Given the description of an element on the screen output the (x, y) to click on. 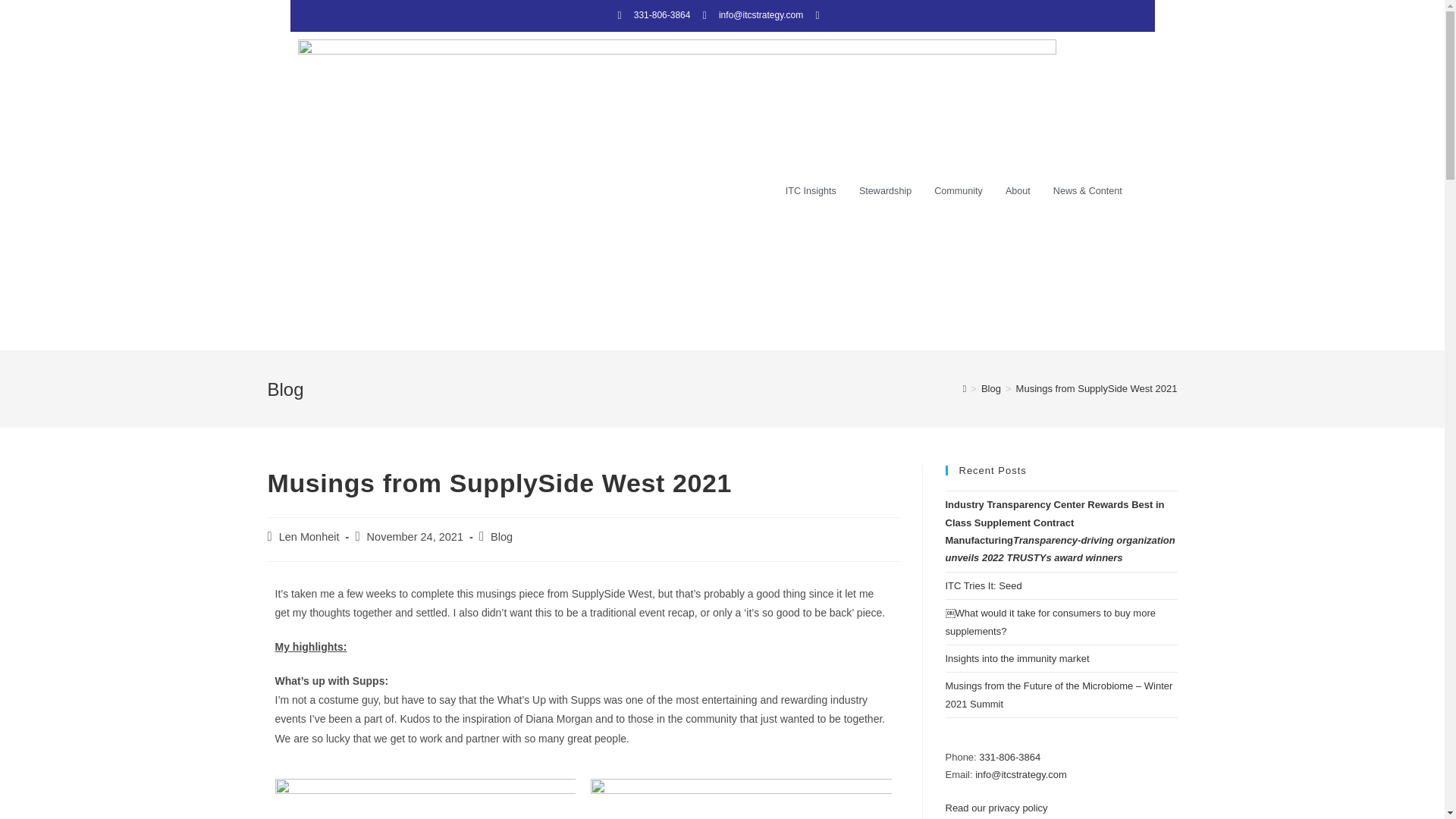
Musings from SupplySide West 2021 (1096, 388)
Posts by Len Monheit (309, 536)
About (1018, 190)
331-806-3864 (651, 15)
Blog (501, 536)
Stewardship (885, 190)
ITC Insights (810, 190)
Blog (991, 388)
Len Monheit (309, 536)
Community (958, 190)
